Given the description of an element on the screen output the (x, y) to click on. 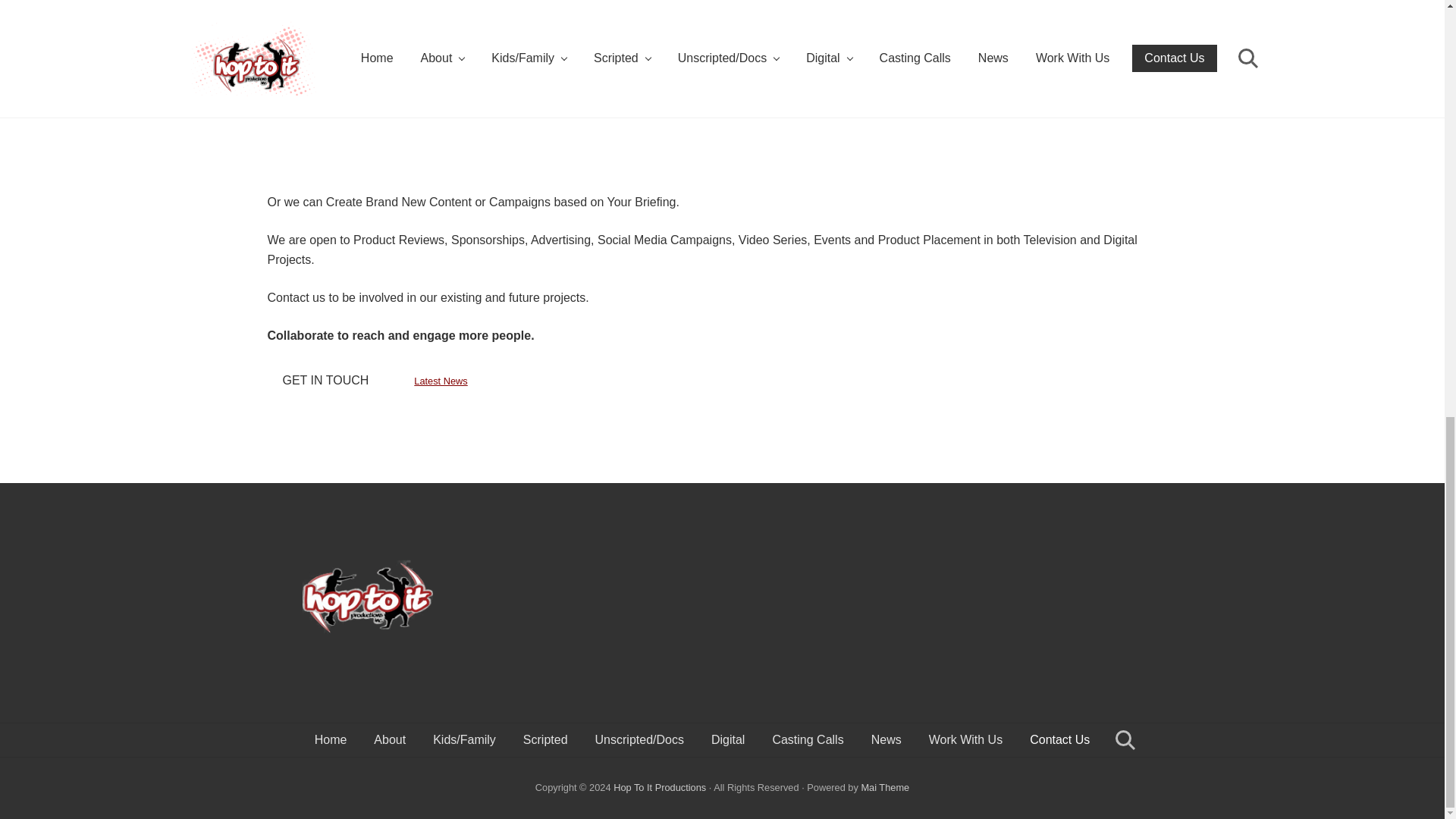
Hop To It Productions (659, 787)
Latest News (440, 380)
